Given the description of an element on the screen output the (x, y) to click on. 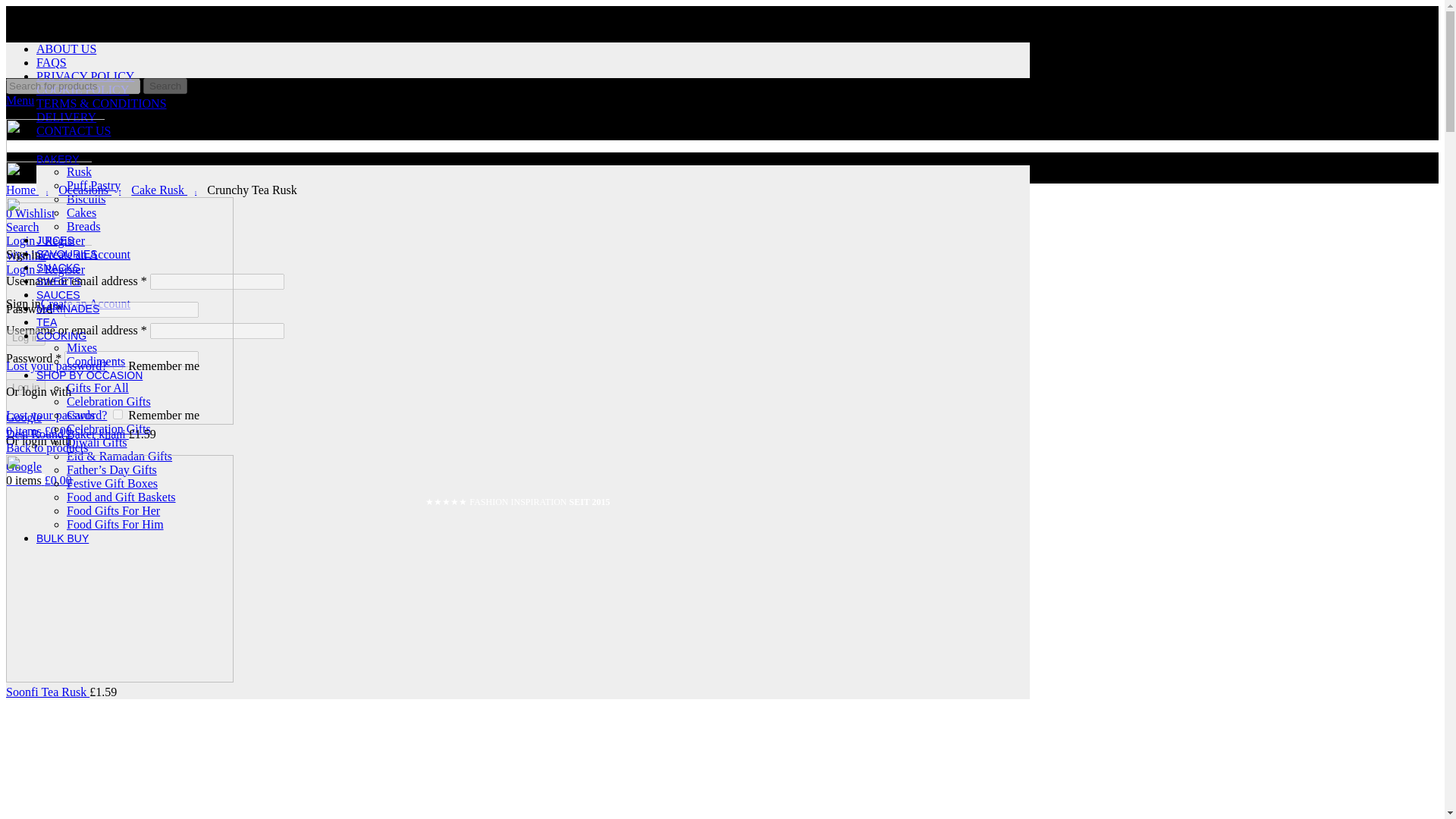
0 Wishlist (30, 213)
Create an Account (85, 303)
Remember me (117, 414)
Remember me (117, 365)
My account (44, 240)
COOKIE POLICY (82, 89)
Lost your password? (55, 414)
SAVOURIES (66, 253)
DELIVERY (66, 116)
Puff Pastry (93, 185)
SNACKS (58, 266)
PRIVACY POLICY (84, 75)
Wishlist (25, 254)
forever (117, 365)
CONTACT US (73, 130)
